Given the description of an element on the screen output the (x, y) to click on. 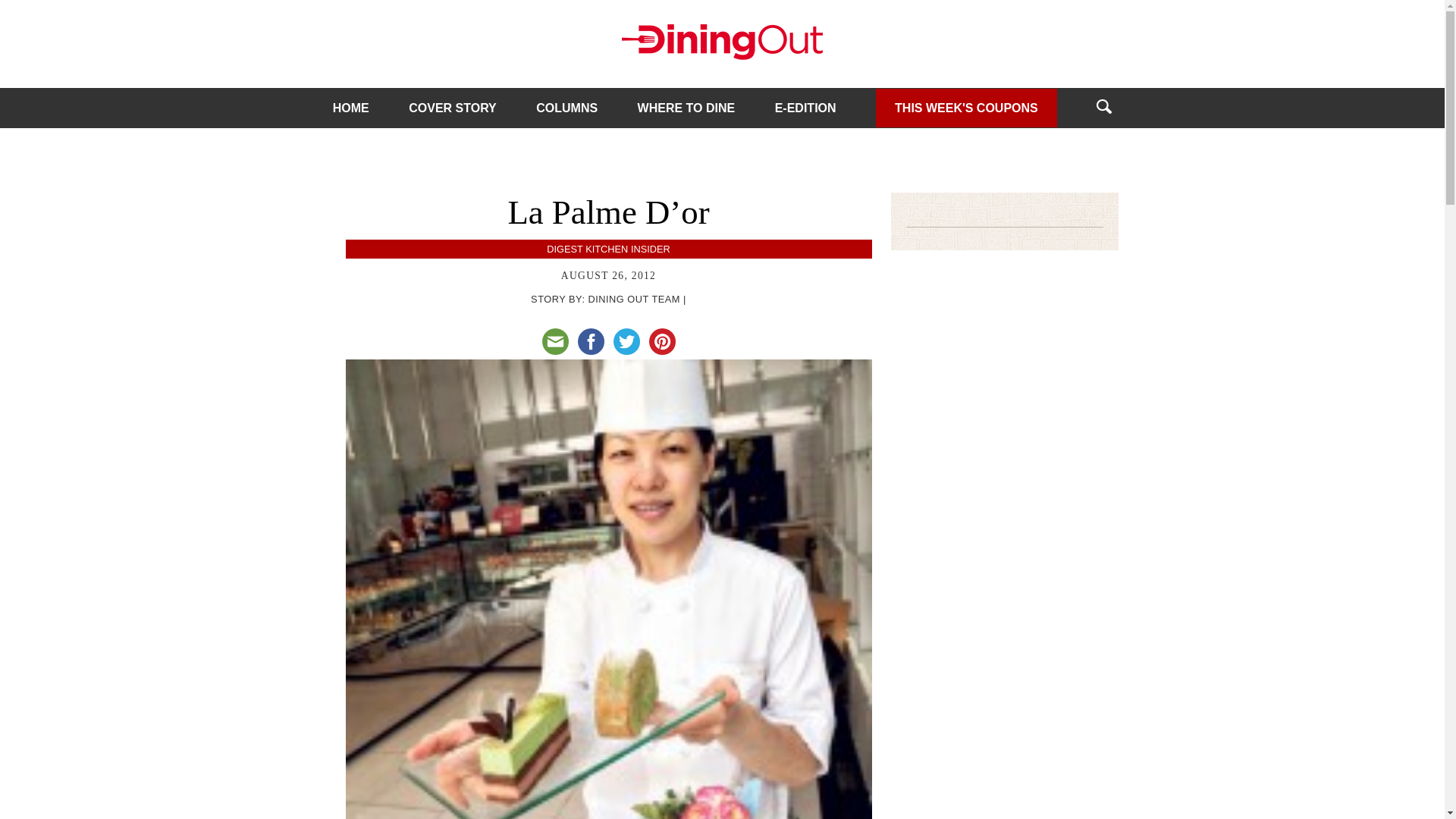
HOME (351, 107)
twitter (625, 341)
THIS WEEK'S COUPONS (966, 106)
DIGEST (564, 248)
facebook (590, 341)
COVER STORY (452, 107)
pinterest (662, 341)
KITCHEN INSIDER (627, 248)
WHERE TO DINE (686, 107)
Digest (564, 248)
Kitchen Insider (627, 248)
email (554, 341)
